Given the description of an element on the screen output the (x, y) to click on. 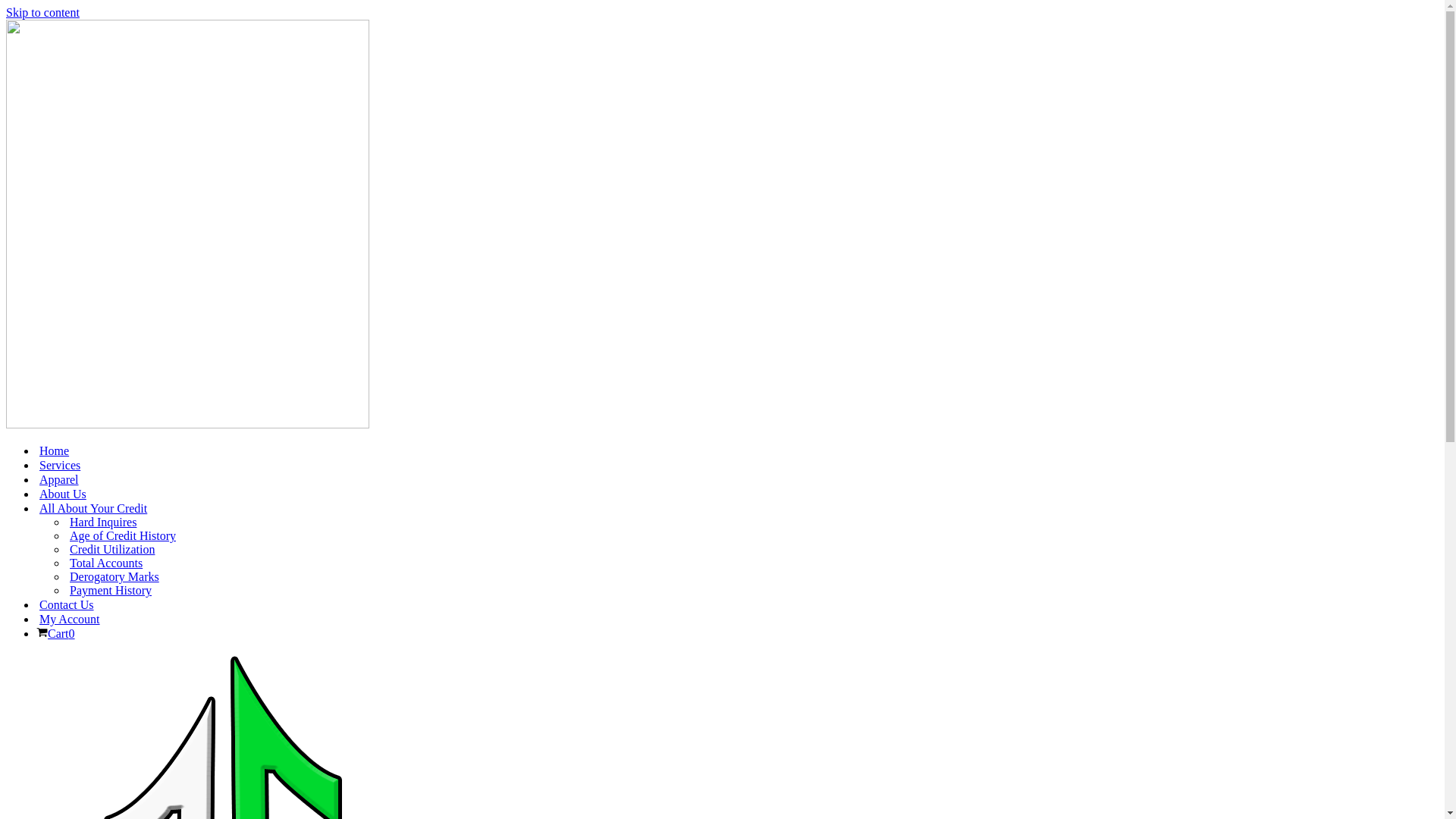
Hard Inquires Element type: text (102, 522)
All About Your Credit Element type: text (93, 508)
My Account Element type: text (69, 618)
Age of Credit History Element type: text (122, 535)
Home Element type: text (54, 450)
Derogatory Marks Element type: text (114, 576)
Skip to content Element type: text (42, 12)
Total Accounts Element type: text (105, 563)
Payment History Element type: text (110, 590)
Services Element type: text (59, 465)
Cart0 Element type: text (55, 633)
Credit Utilization Element type: text (111, 549)
Contact Us Element type: text (66, 604)
About Us Element type: text (62, 493)
Apparel Element type: text (58, 479)
